Given the description of an element on the screen output the (x, y) to click on. 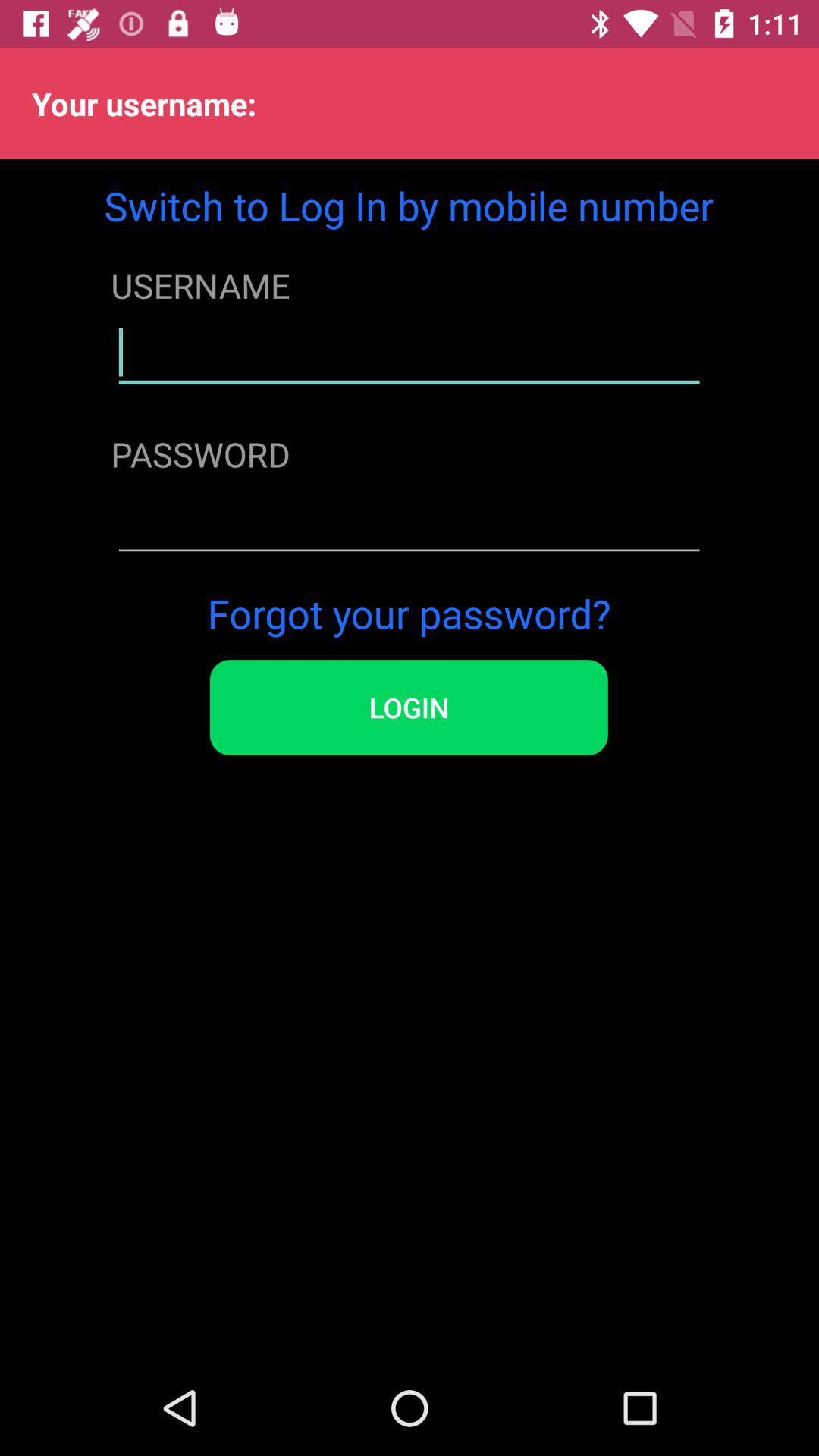
tap the forgot your password? icon (408, 612)
